Given the description of an element on the screen output the (x, y) to click on. 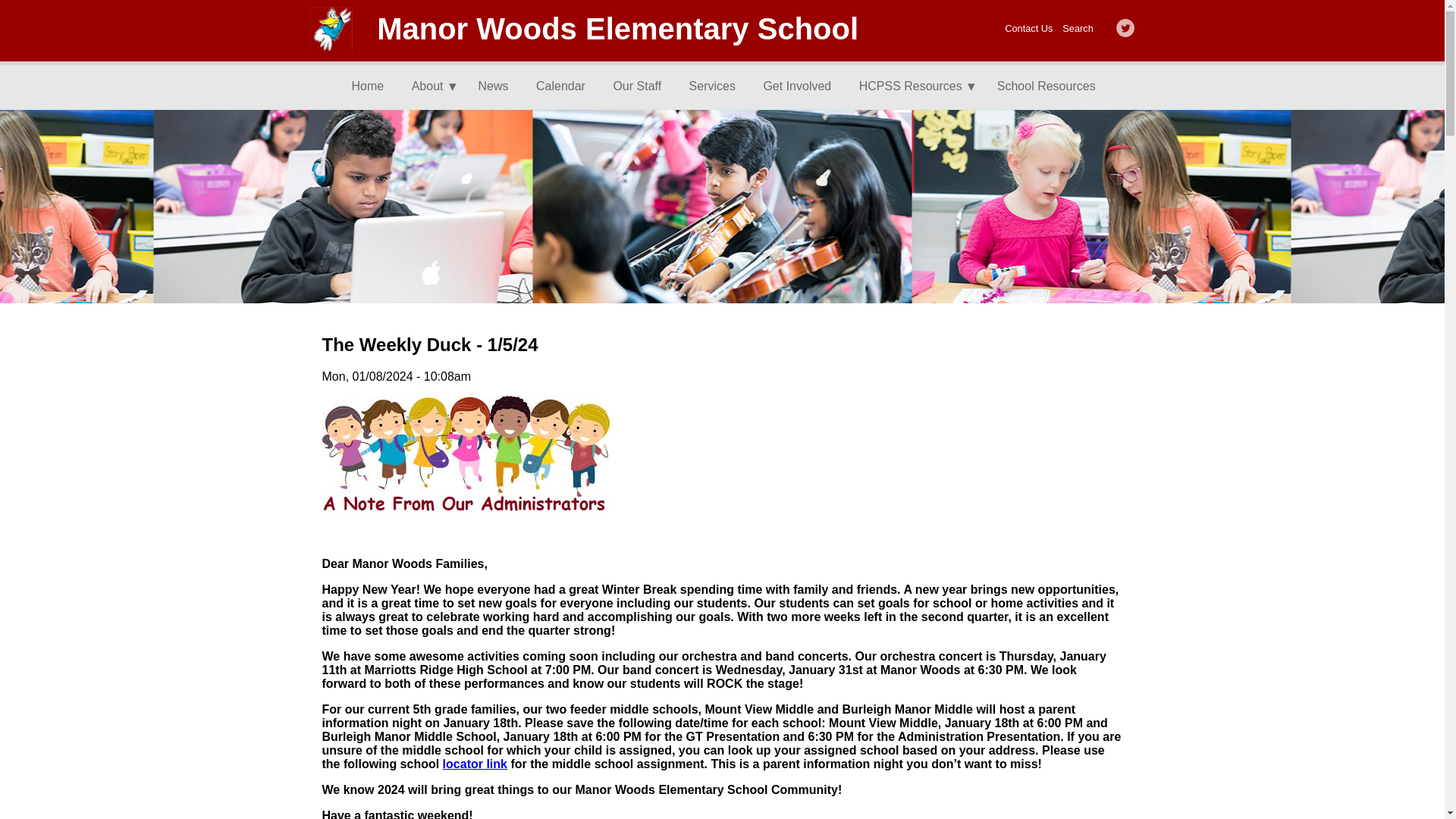
Home (374, 85)
HCPSS Resources (914, 85)
Services (718, 85)
Our Staff (642, 85)
Get Involved (802, 85)
Contact Us (1028, 28)
Search (1077, 28)
locator link (474, 763)
News (500, 85)
Manor Woods Elementary School (618, 28)
School Resources (1052, 85)
Calendar (565, 85)
